Given the description of an element on the screen output the (x, y) to click on. 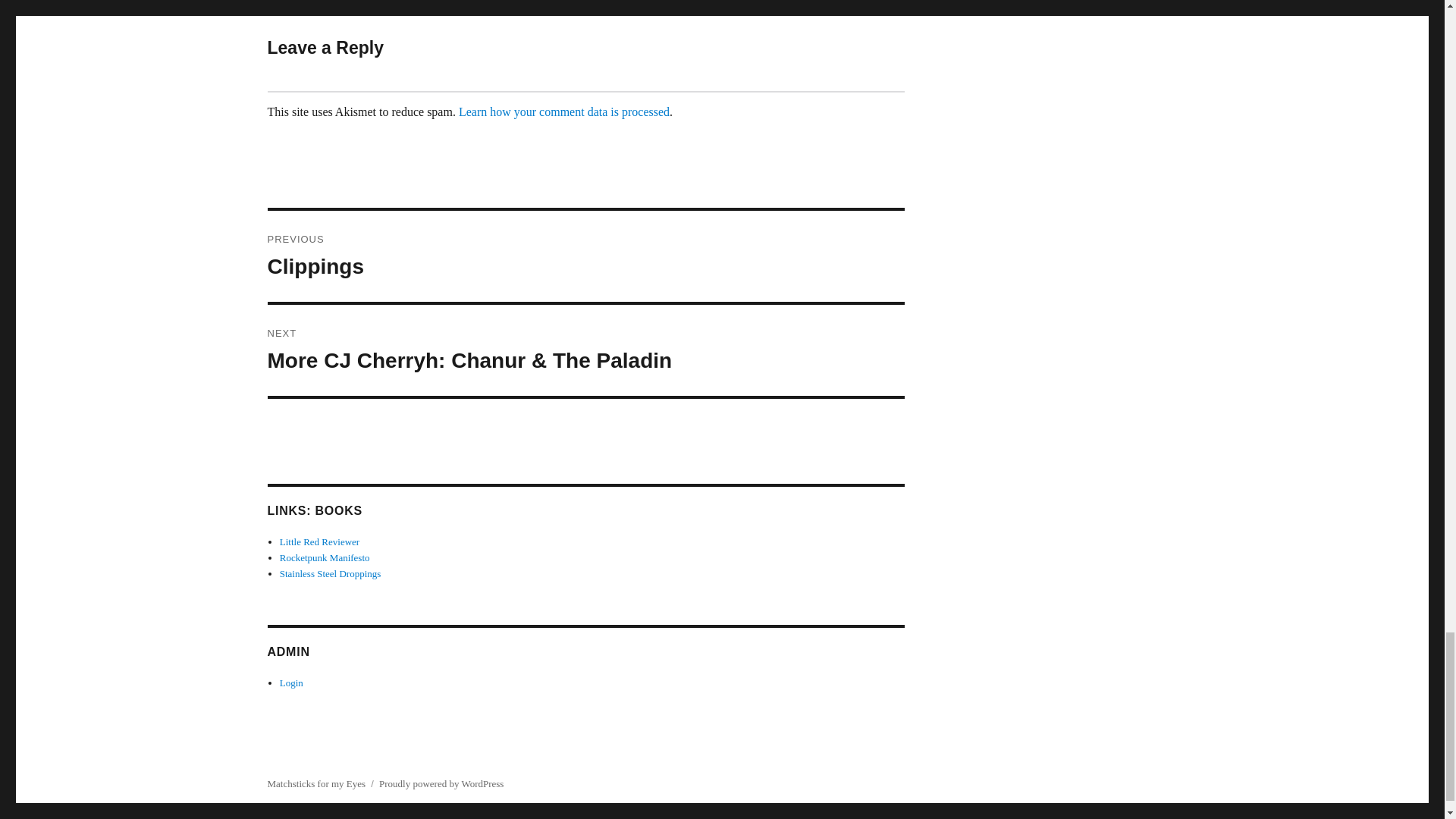
Rocketpunk Manifesto (324, 557)
Little Red Reviewer (585, 256)
Comment Form (319, 541)
Login (330, 573)
Learn how your comment data is processed (290, 682)
Stainless Steel Droppings (563, 111)
